Given the description of an element on the screen output the (x, y) to click on. 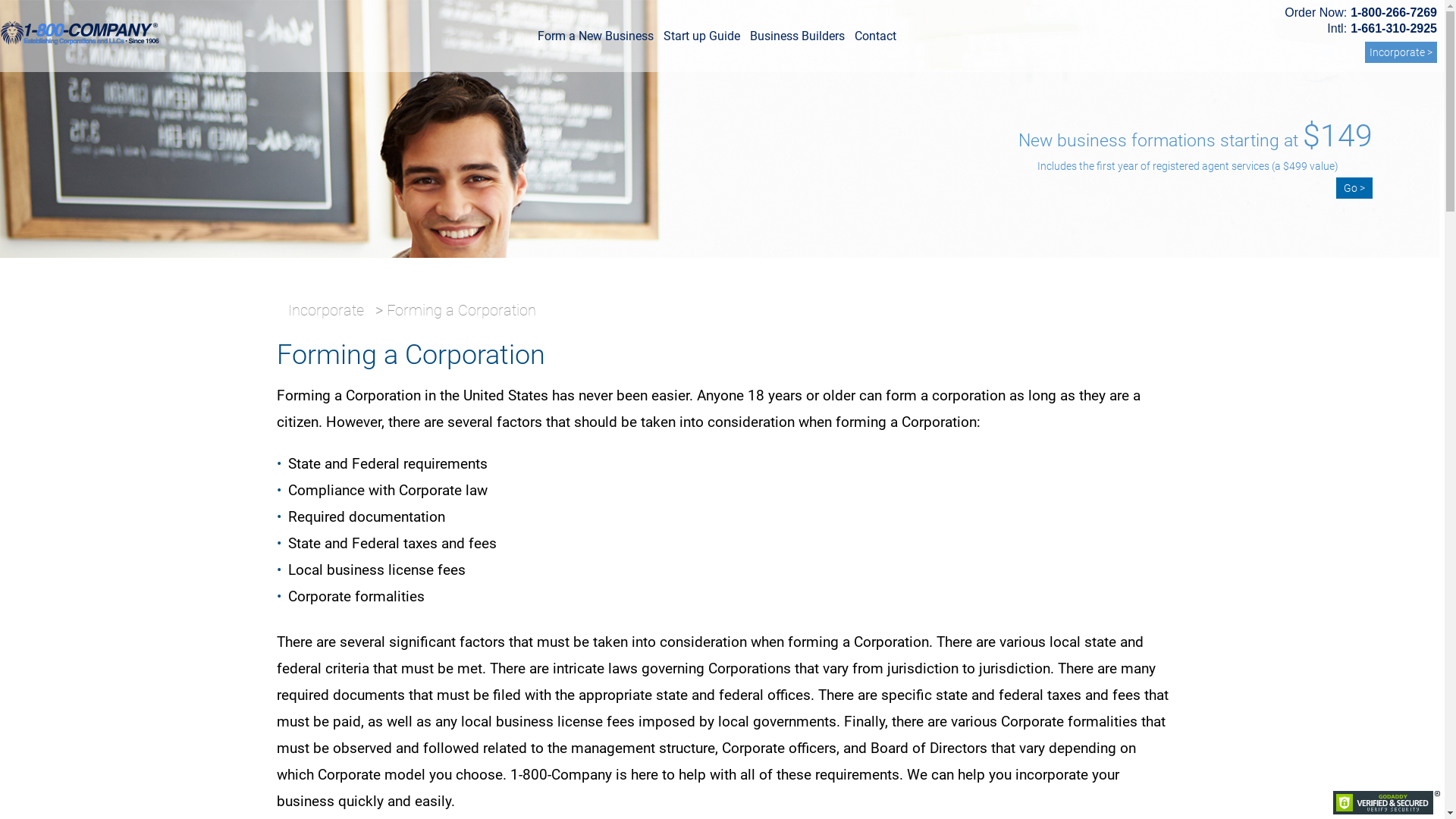
Contact Element type: text (875, 38)
Incorporate Element type: text (326, 310)
Incorporate > Element type: text (1401, 51)
Start up Guide Element type: text (701, 38)
Form a New Business Element type: text (595, 38)
Business Builders Element type: text (796, 38)
1-800-266-7269 Element type: text (1393, 12)
1-661-310-2925 Element type: text (1393, 27)
Go > Element type: text (1354, 187)
